Given the description of an element on the screen output the (x, y) to click on. 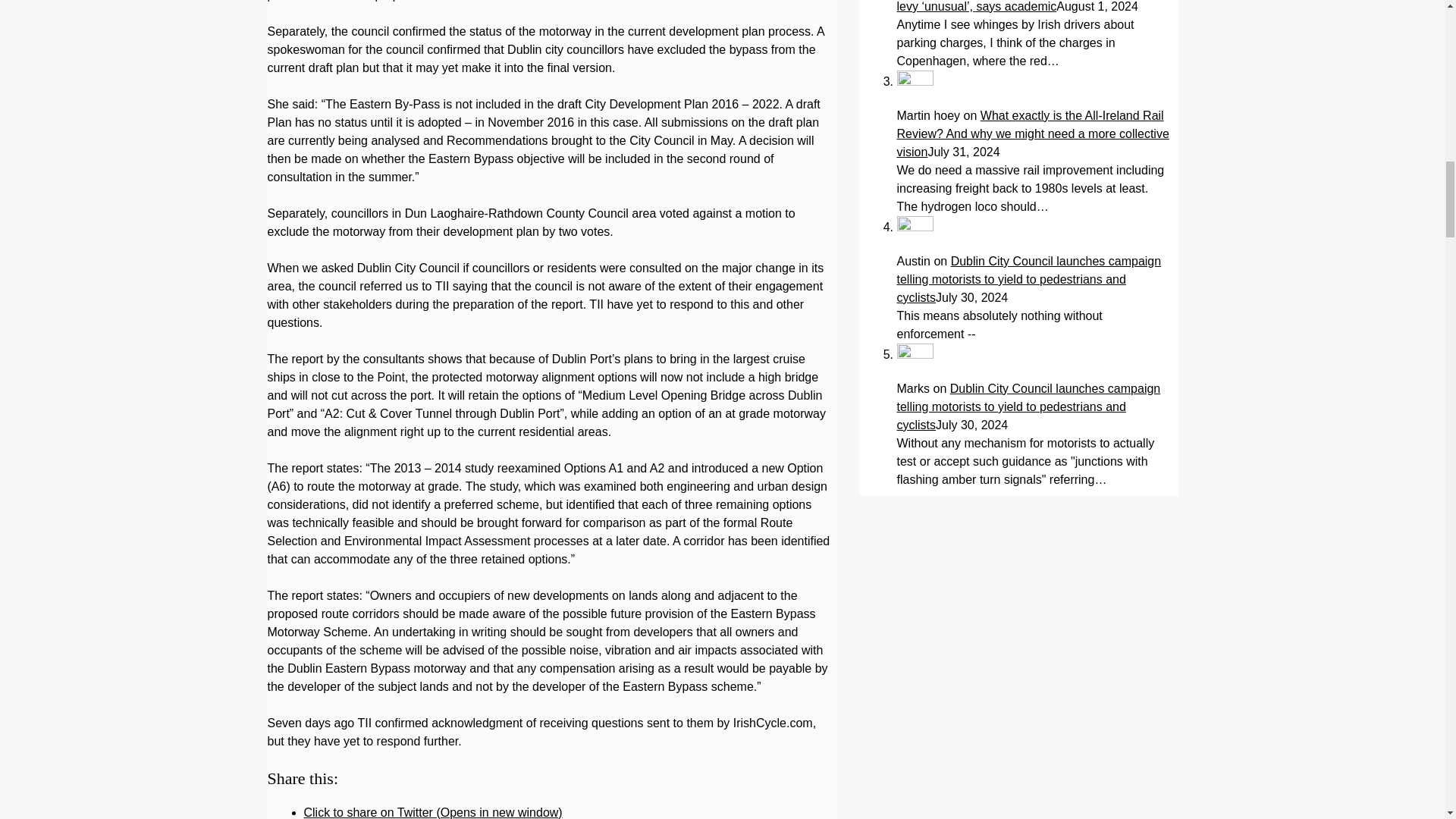
Click to share on Twitter (432, 812)
